Given the description of an element on the screen output the (x, y) to click on. 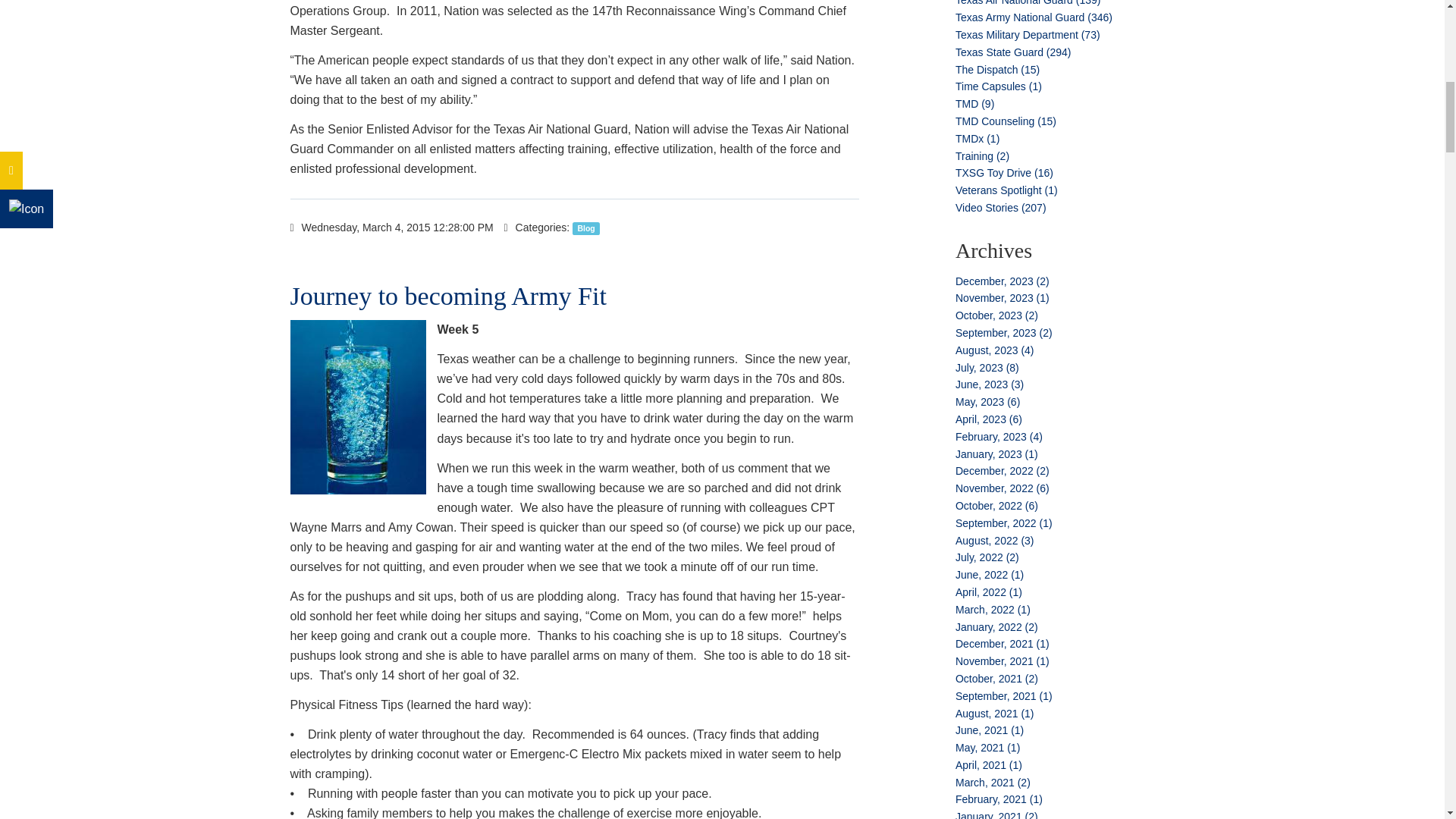
Journey to becoming Army Fit (447, 295)
Blog (585, 228)
